Given the description of an element on the screen output the (x, y) to click on. 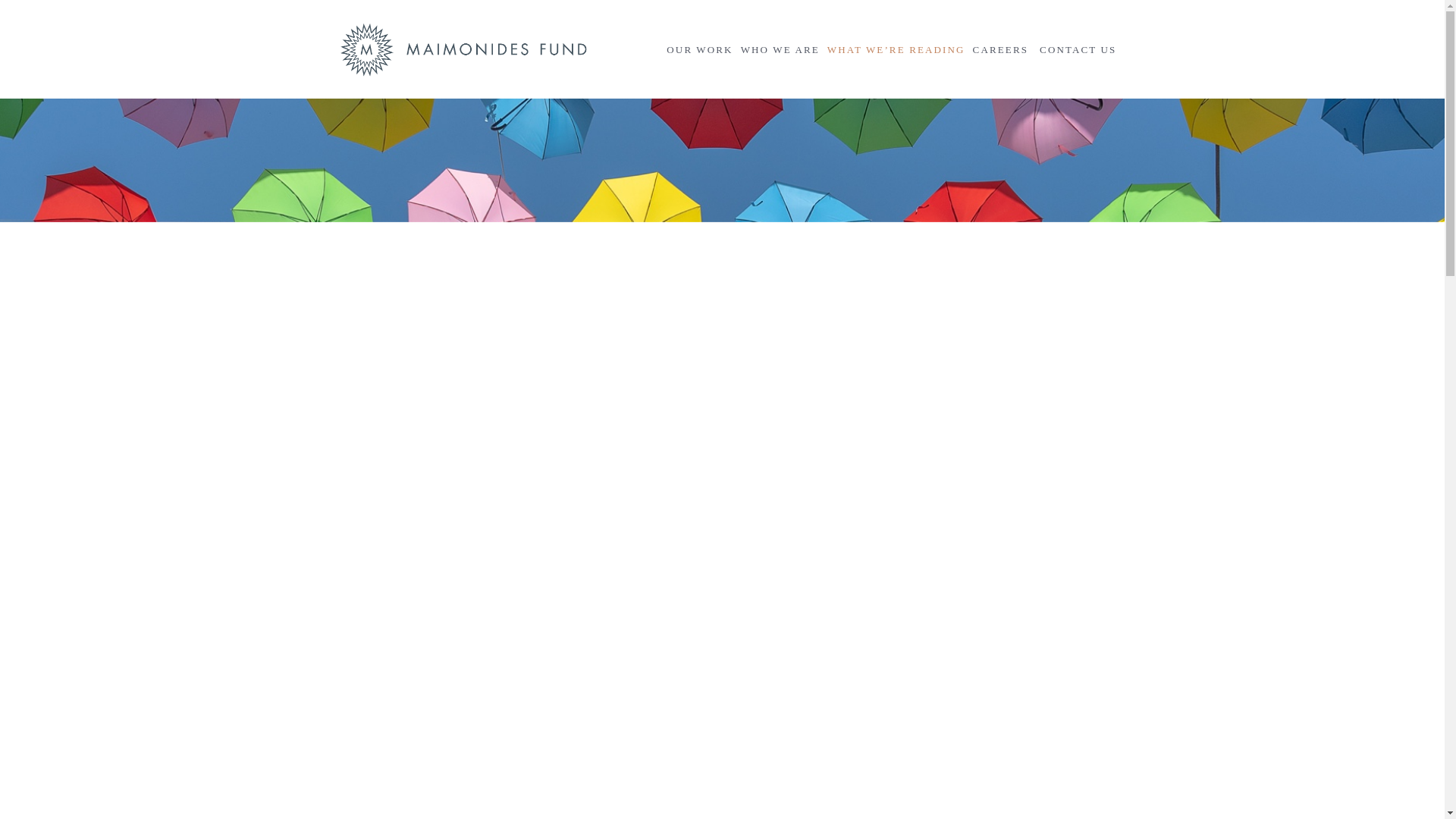
WHO WE ARE (780, 49)
OUR WORK (699, 49)
CONTACT US (1077, 49)
CAREERS (1000, 49)
